Given the description of an element on the screen output the (x, y) to click on. 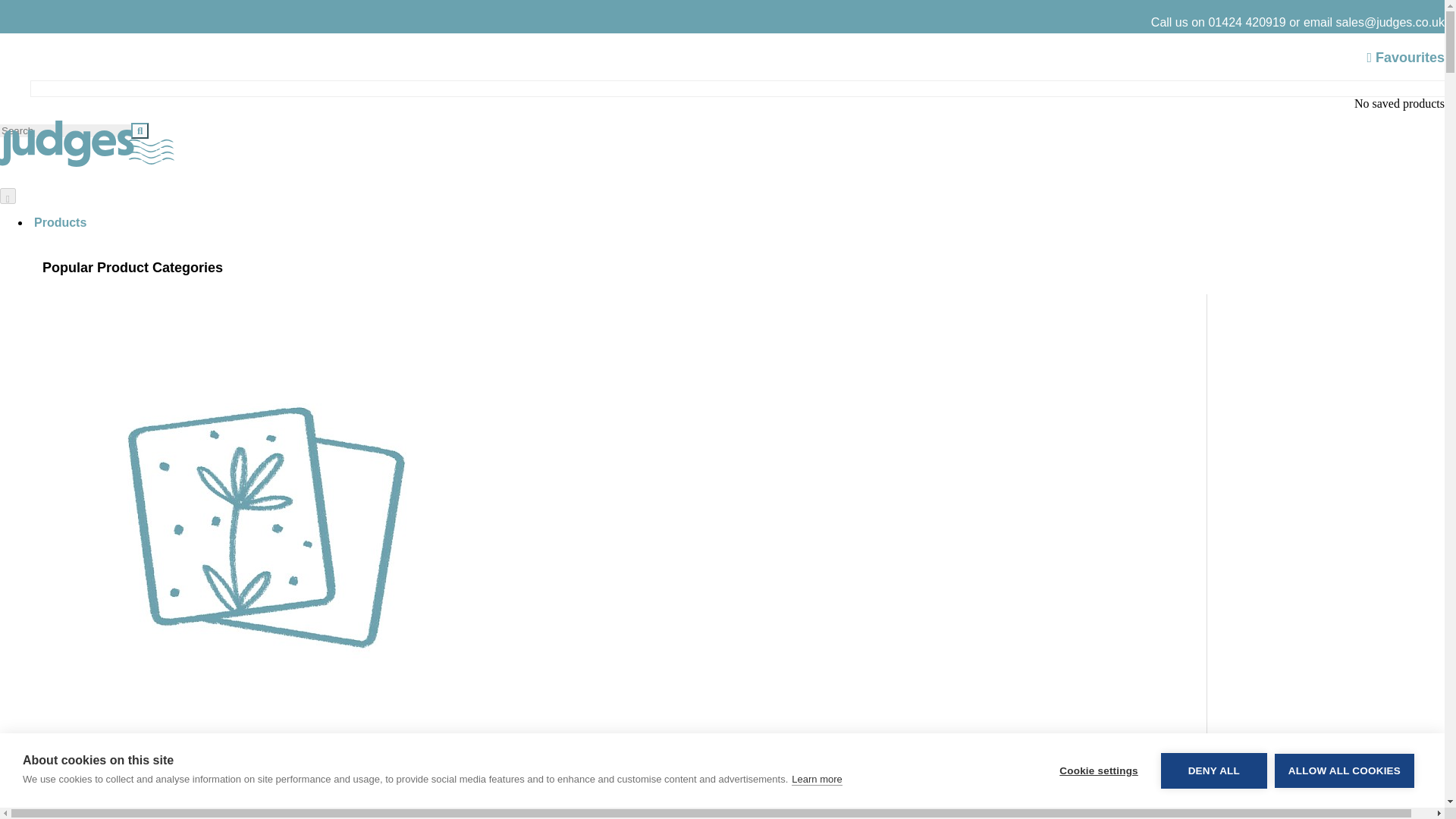
Favourites (1405, 57)
DENY ALL (1213, 805)
01424 420919 (1246, 21)
ALLOW ALL COOKIES (1344, 795)
Products (60, 222)
Cookie settings (1098, 814)
Custom Shot Glasses (624, 811)
